Given the description of an element on the screen output the (x, y) to click on. 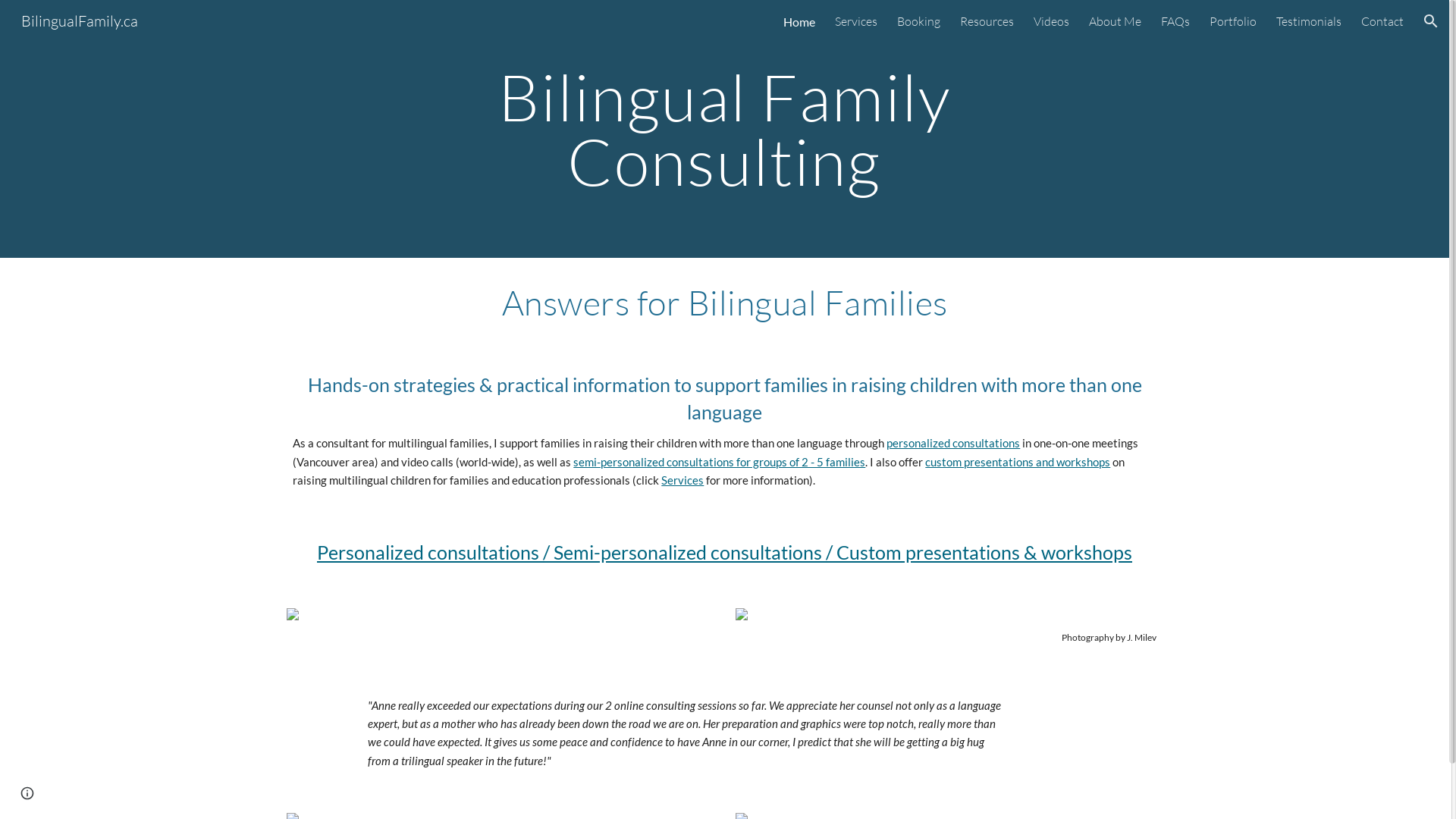
Services Element type: text (855, 20)
Videos Element type: text (1051, 20)
personalized consultations Element type: text (952, 442)
Home Element type: text (799, 20)
Resources Element type: text (986, 20)
Services Element type: text (682, 479)
Contact Element type: text (1382, 20)
BilingualFamily.ca Element type: text (79, 18)
Portfolio Element type: text (1232, 20)
About Me Element type: text (1114, 20)
semi-personalized consultations for groups of 2 - 5 families Element type: text (719, 461)
FAQs Element type: text (1175, 20)
Testimonials Element type: text (1308, 20)
Booking Element type: text (918, 20)
custom presentations and workshops Element type: text (1017, 461)
